Given the description of an element on the screen output the (x, y) to click on. 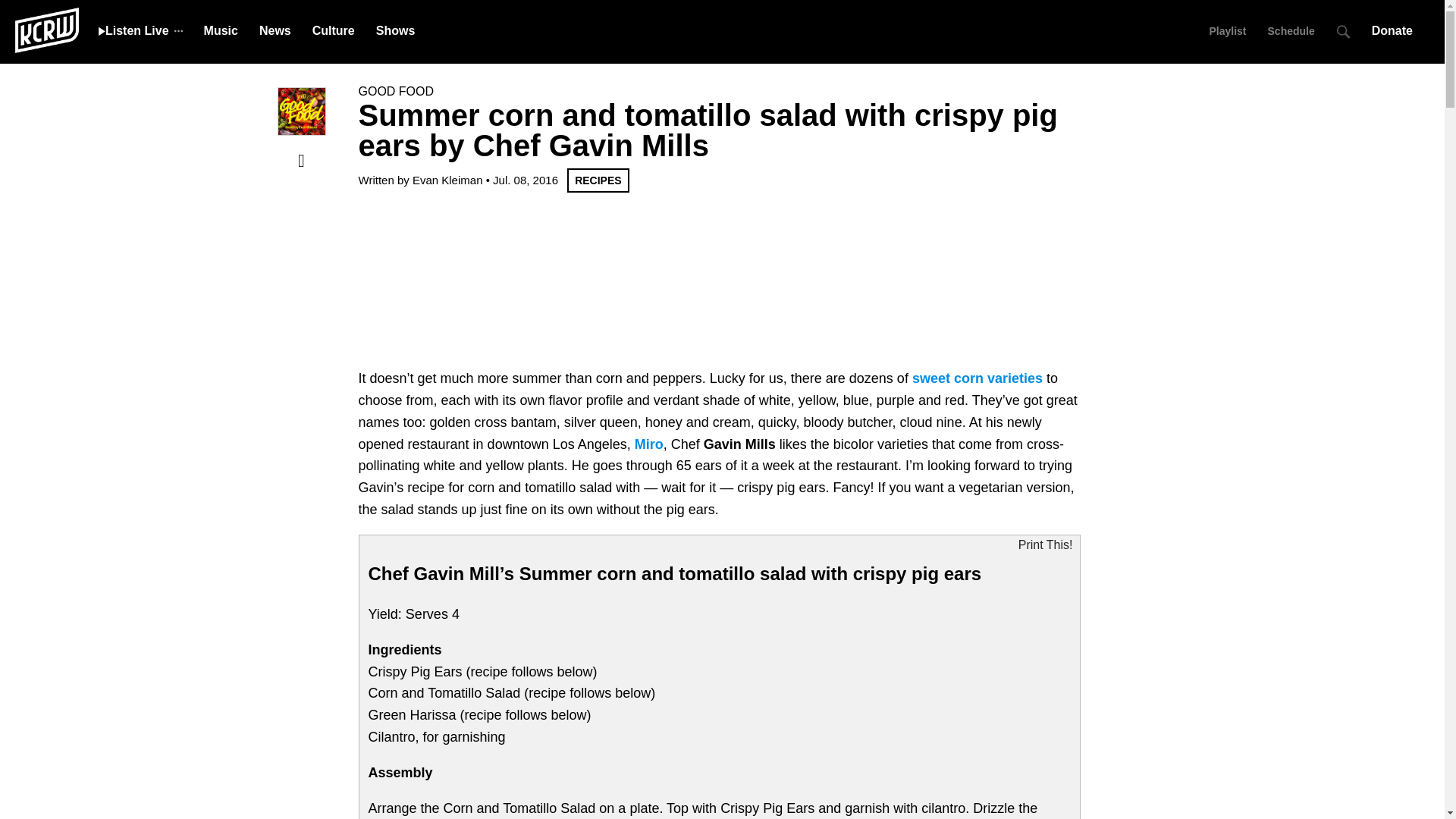
Print This! (1045, 545)
Listen Live (133, 30)
Music (220, 30)
Donate (1397, 30)
KCRW (46, 29)
Evan Kleiman (447, 179)
sweet corn varieties (977, 378)
Schedule (1291, 30)
Playlist (1227, 30)
Share on Facebook (301, 160)
